Given the description of an element on the screen output the (x, y) to click on. 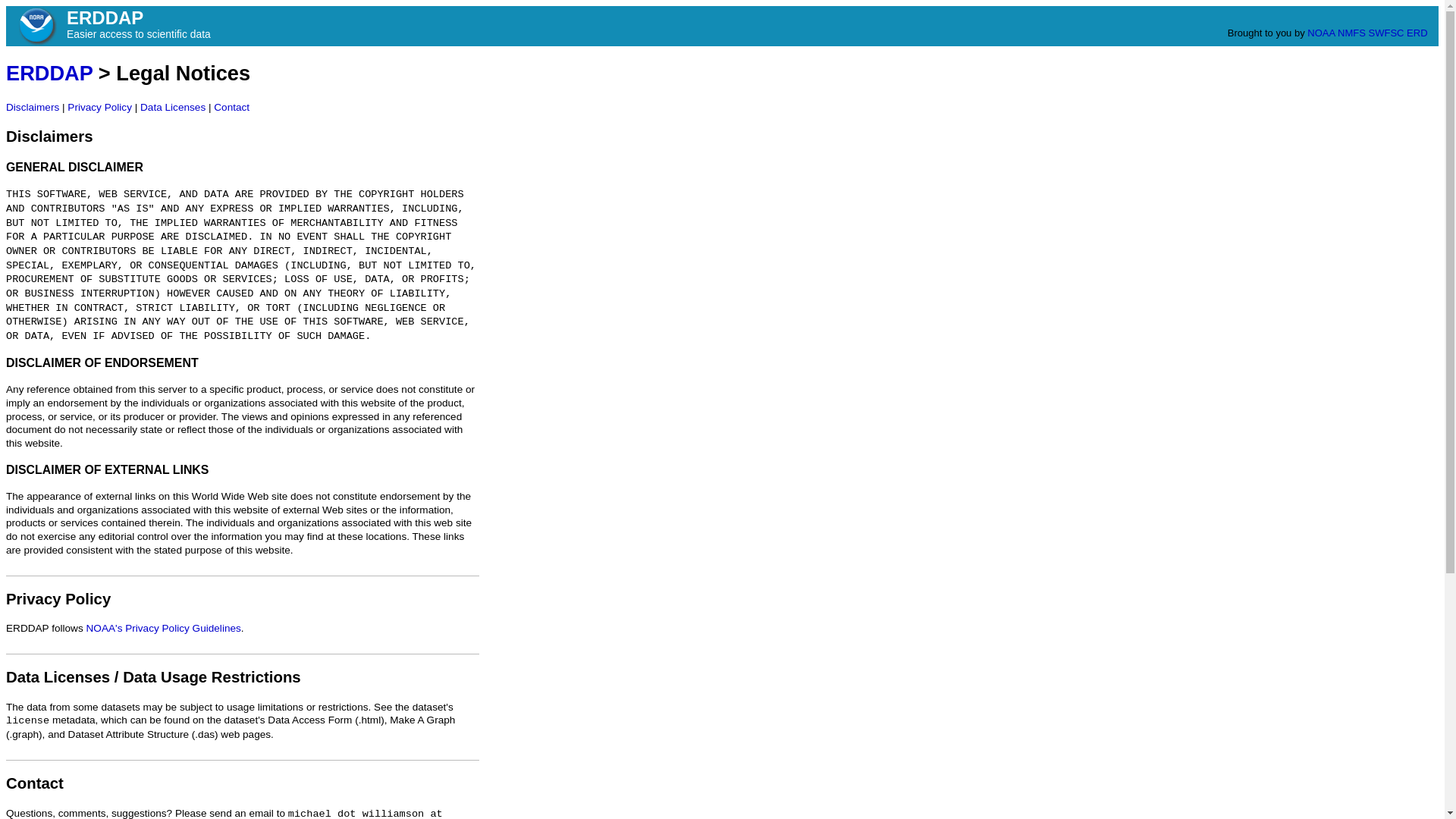
National Oceanic and Atmospheric Administration (36, 25)
Disclaimers (49, 135)
SWFSC (1386, 32)
Environmental Research Division (1416, 32)
ERDDAP (49, 73)
ERD (1416, 32)
NOAA's Privacy Policy Guidelines (163, 627)
NMFS (1351, 32)
National Oceanic and Atmospheric Administration (1321, 32)
Privacy Policy (57, 598)
Contact (34, 782)
NOAA (1321, 32)
Click here to return to the ERDDAP home page. (49, 73)
Privacy Policy (99, 107)
Data Licenses (172, 107)
